Given the description of an element on the screen output the (x, y) to click on. 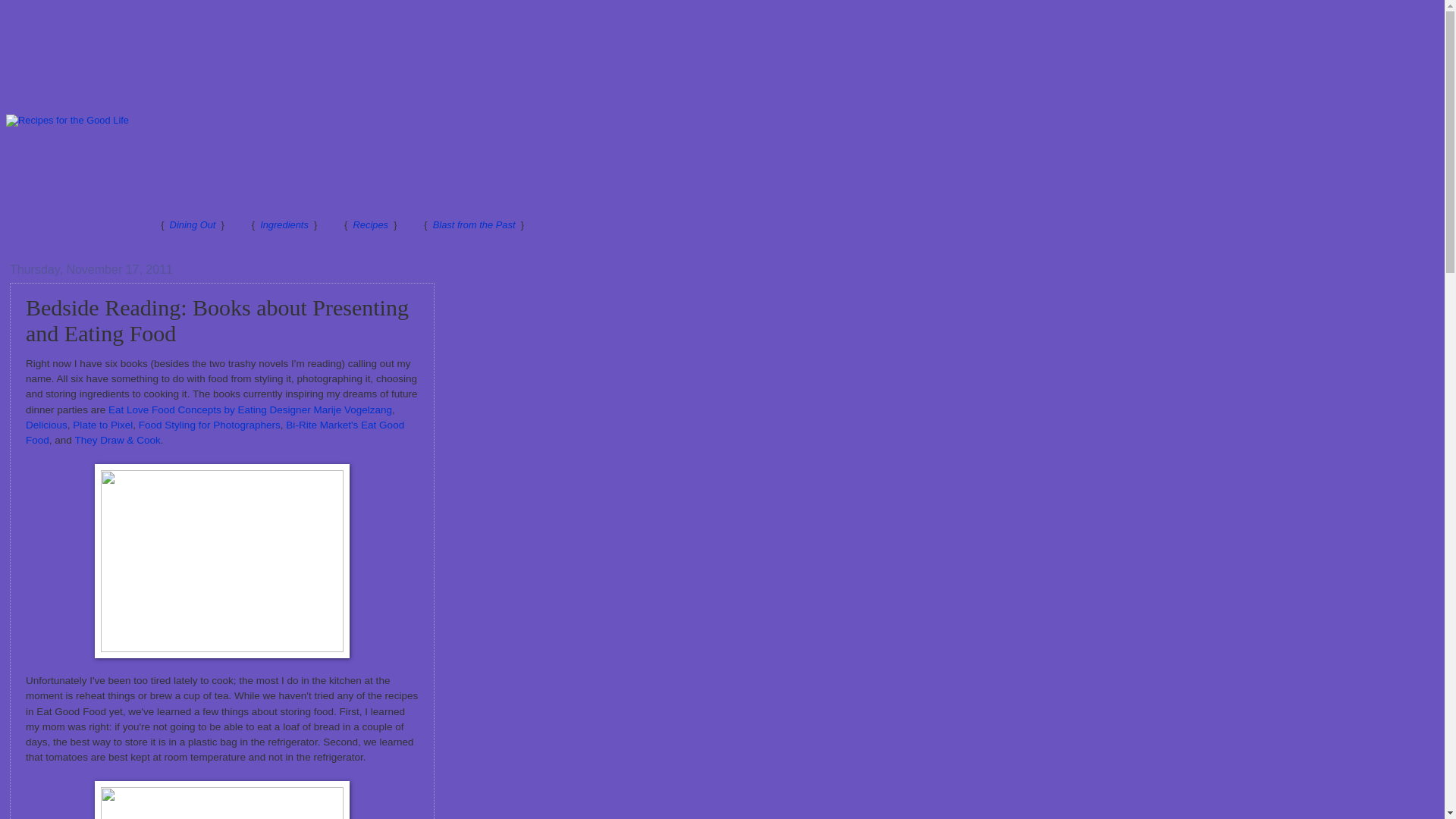
Blast from the Past (473, 224)
Eat Love Food Concepts by Eating Designer Marije Vogelzang (249, 409)
Plate to Pixel (102, 424)
Bi-Rite Market's Eat Good Food (215, 432)
Dining Out (192, 224)
Delicious (46, 424)
Food Styling for Photographers (209, 424)
Recipes (370, 224)
Ingredients (284, 224)
